Given the description of an element on the screen output the (x, y) to click on. 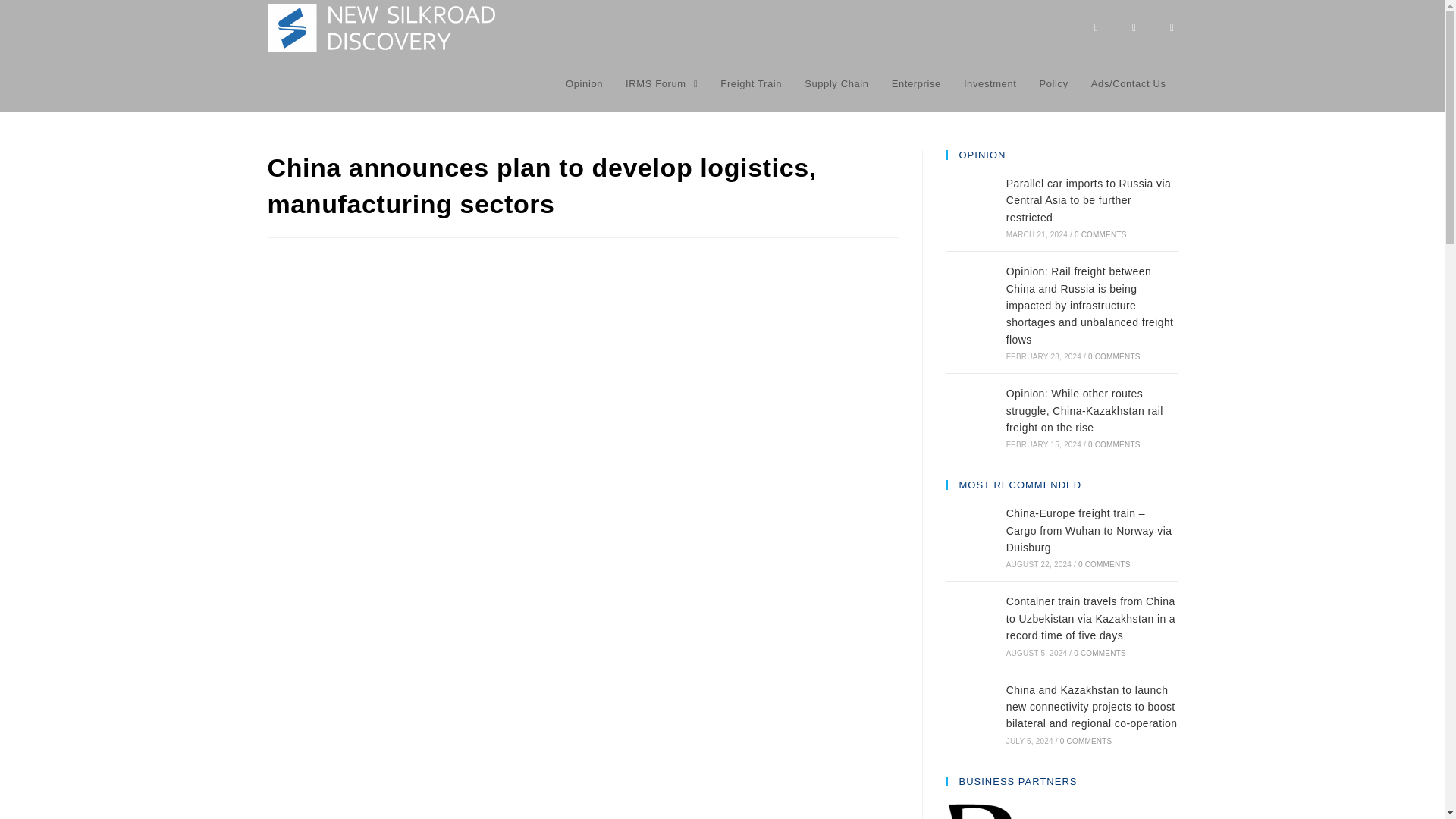
Enterprise (916, 84)
0 COMMENTS (1113, 444)
Opinion (584, 84)
Freight Train (751, 84)
0 COMMENTS (1104, 564)
IRMS Forum (661, 84)
0 COMMENTS (1100, 234)
